Given the description of an element on the screen output the (x, y) to click on. 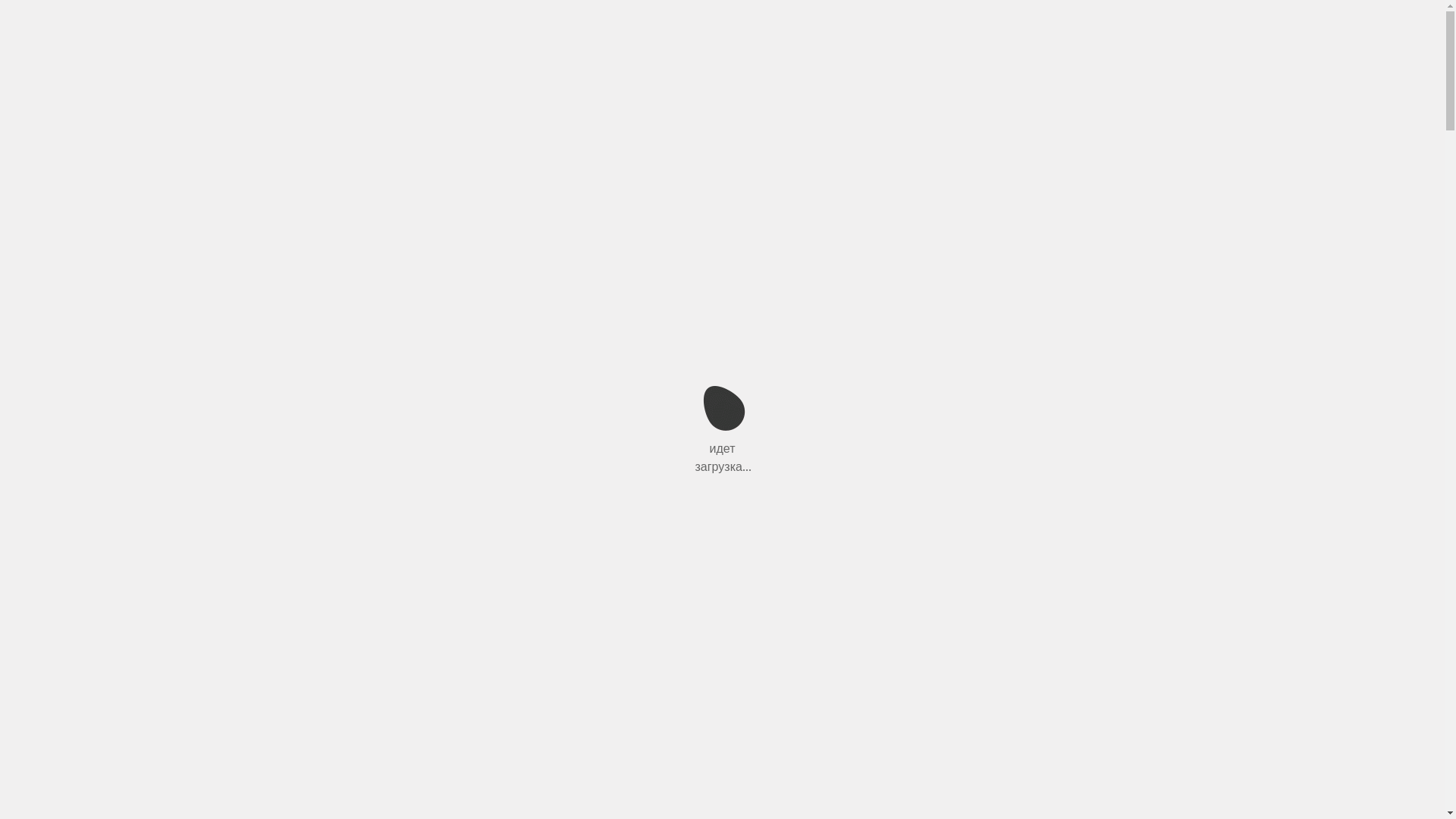
Facebook Element type: hover (779, 525)
Twitter Element type: hover (743, 525)
Instagram Element type: hover (817, 525)
